Given the description of an element on the screen output the (x, y) to click on. 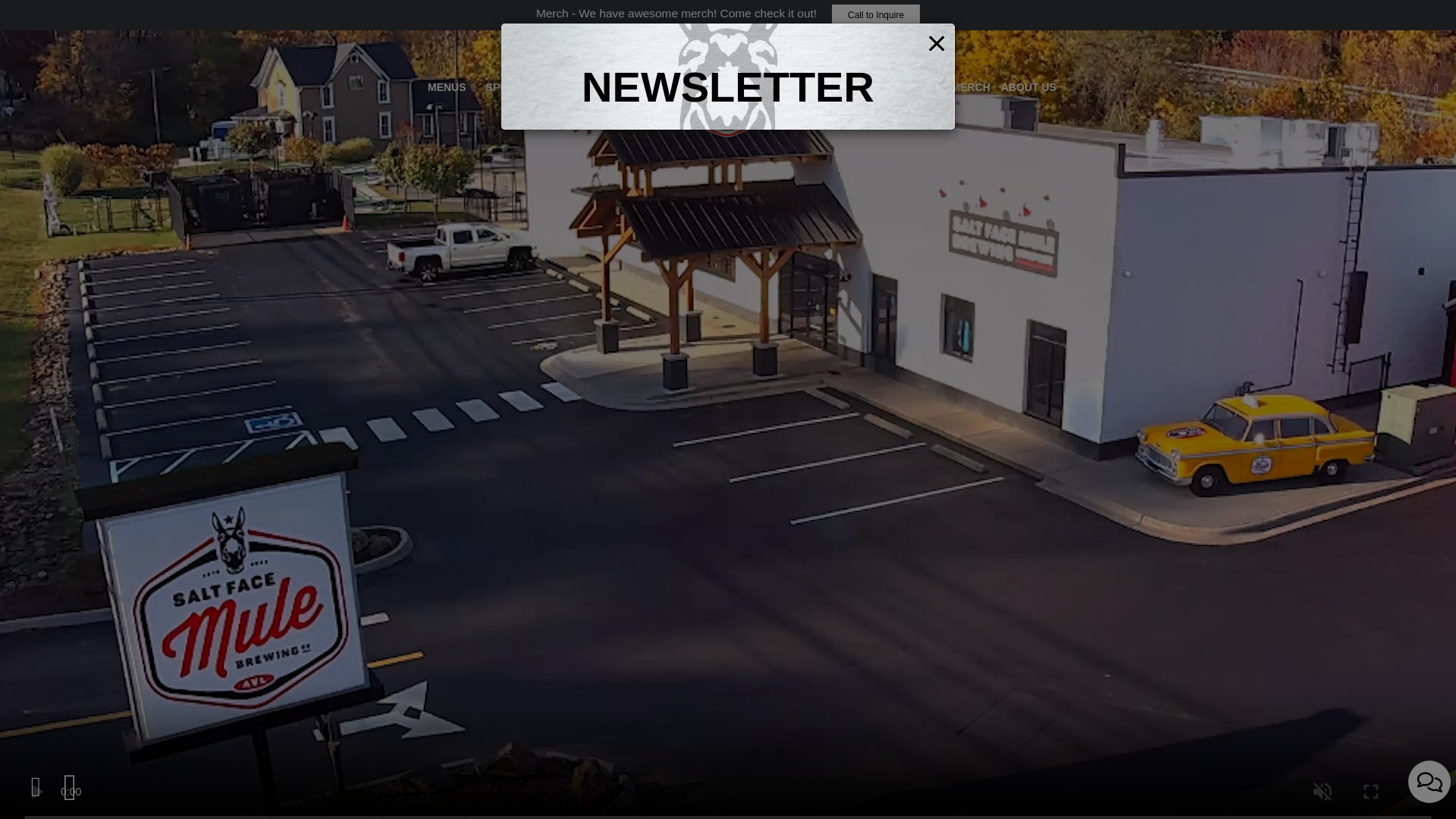
PRIVATE EVENTS (830, 87)
ORDER (569, 87)
SPECIALS (512, 87)
MENUS (451, 87)
MINI GOLF (912, 87)
MERCH (970, 87)
HAPPENINGS (633, 87)
ABOUT US (1032, 87)
Call to Inquire (875, 14)
